Given the description of an element on the screen output the (x, y) to click on. 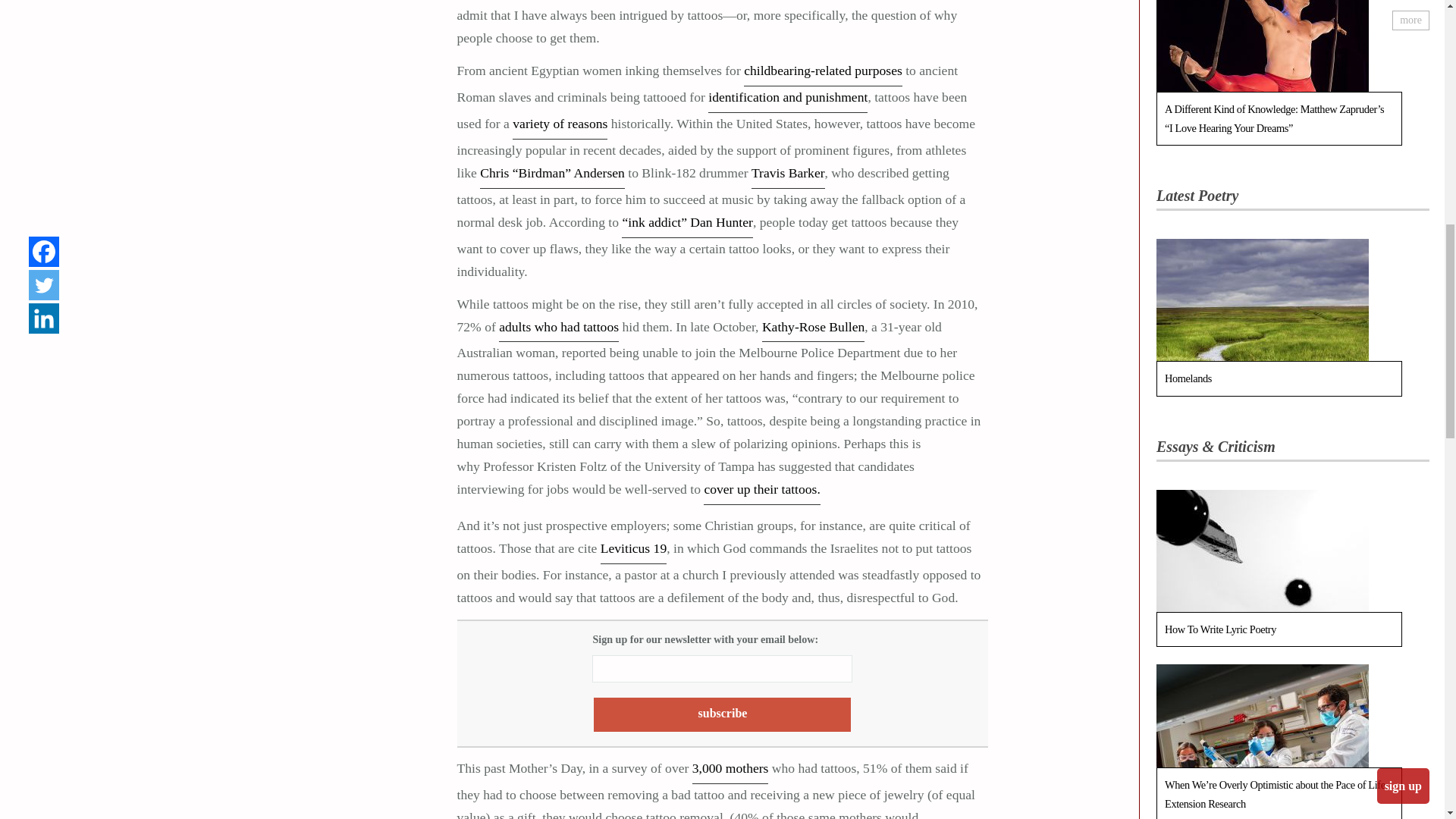
3,000 mothers (730, 770)
Travis Barker (788, 175)
Leviticus 19 (632, 550)
Subscribe (722, 714)
Kathy-Rose Bullen (812, 329)
adults who had tattoos (558, 329)
childbearing-related purposes (823, 72)
How To Write Lyric Poetry (1262, 637)
identification and punishment (787, 99)
Subscribe (722, 714)
